Given the description of an element on the screen output the (x, y) to click on. 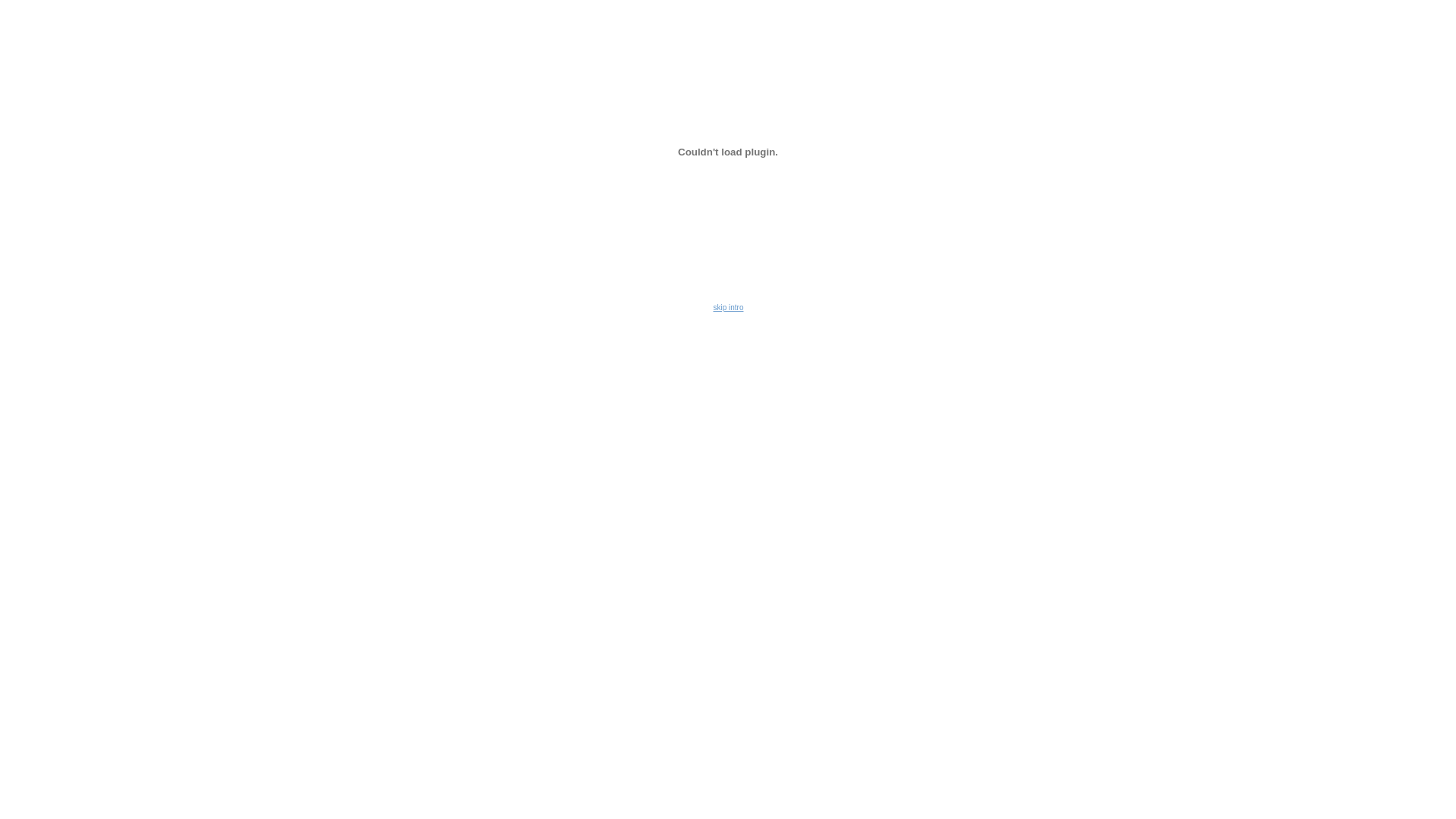
skip intro Element type: text (727, 307)
